Given the description of an element on the screen output the (x, y) to click on. 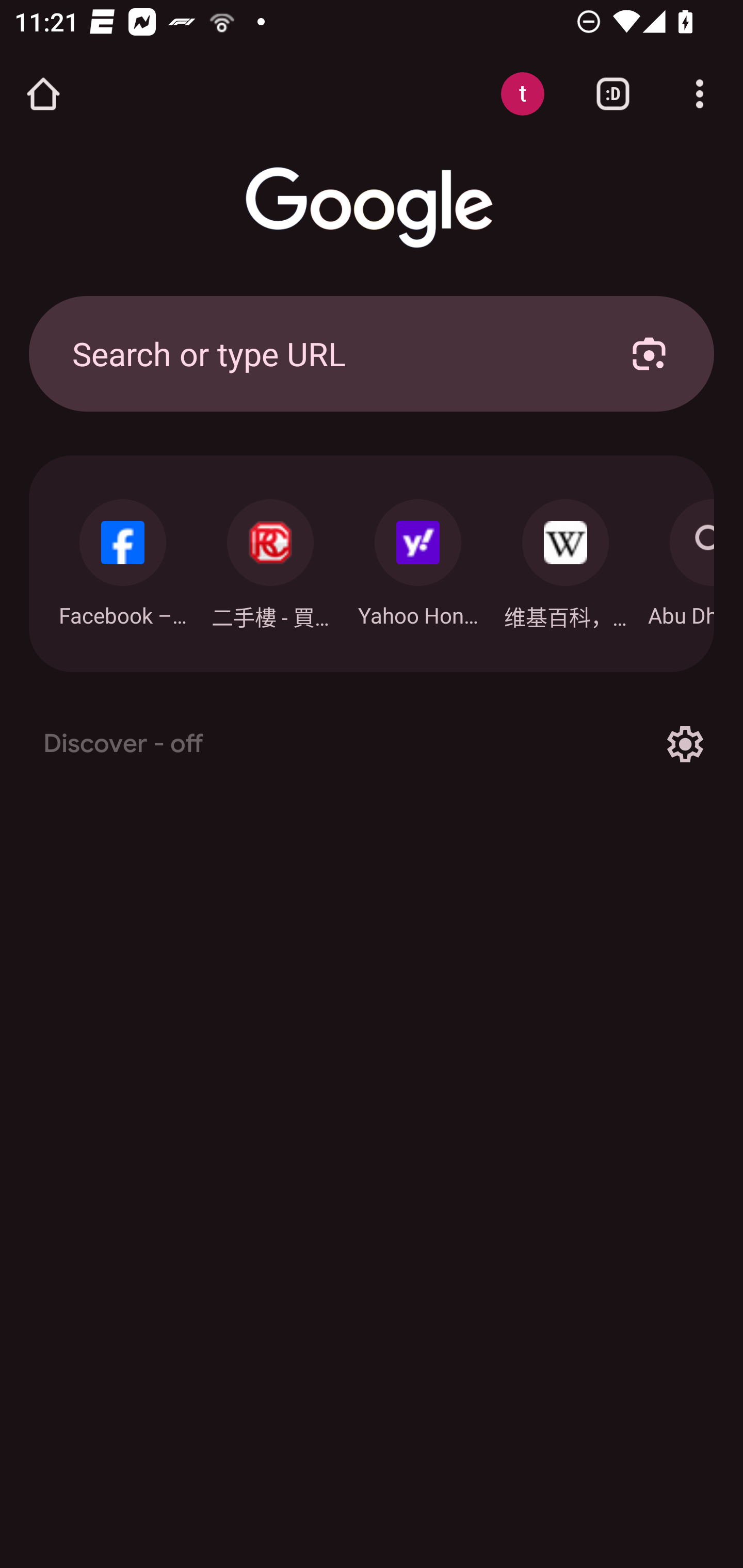
Open the home page (43, 93)
Switch or close tabs (612, 93)
Customize and control Google Chrome (699, 93)
Search or type URL (327, 353)
Search with your camera using Google Lens (648, 353)
Options for Discover (684, 743)
